Given the description of an element on the screen output the (x, y) to click on. 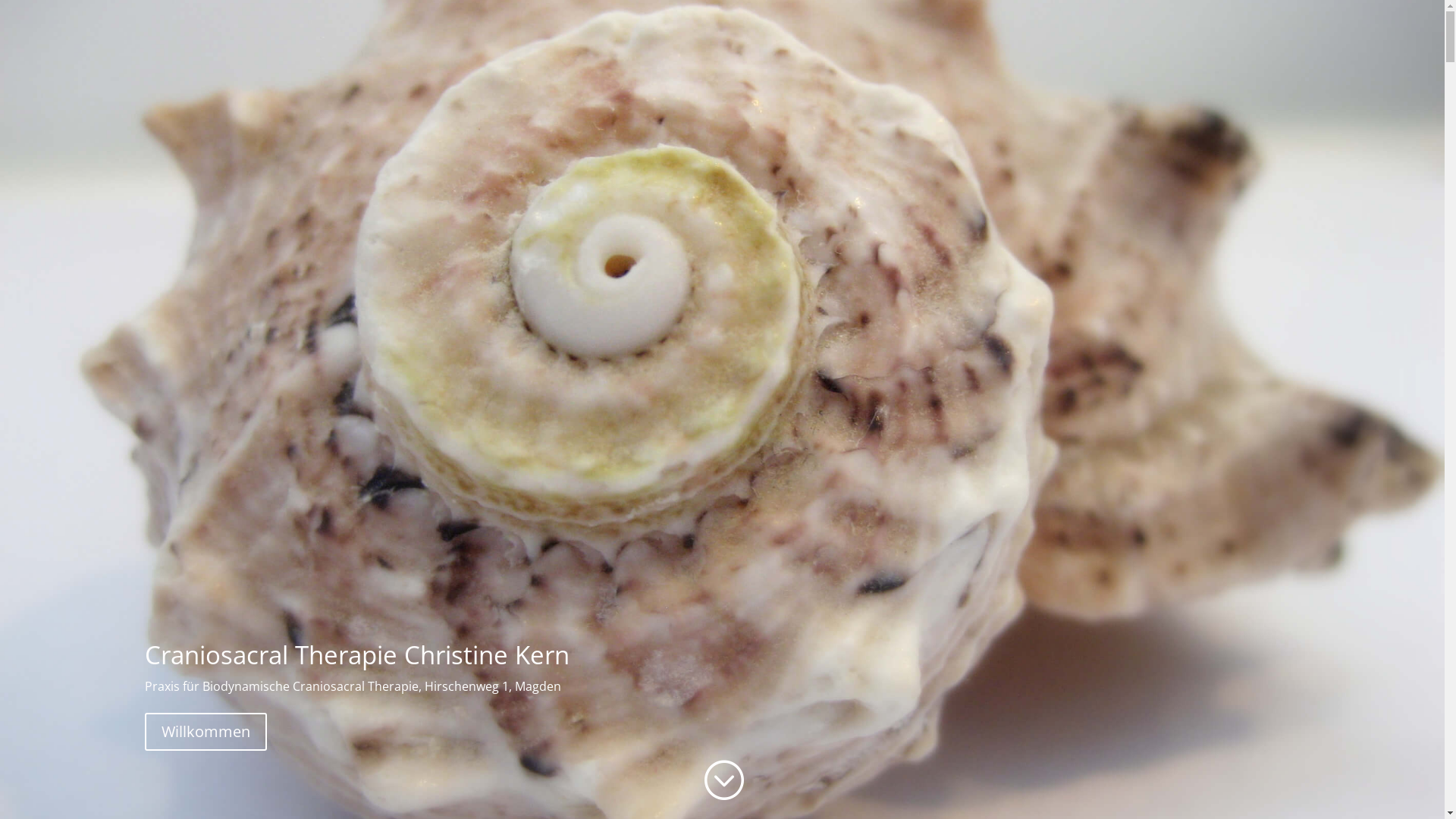
Willkommen Element type: text (205, 731)
; Element type: text (721, 780)
